Given the description of an element on the screen output the (x, y) to click on. 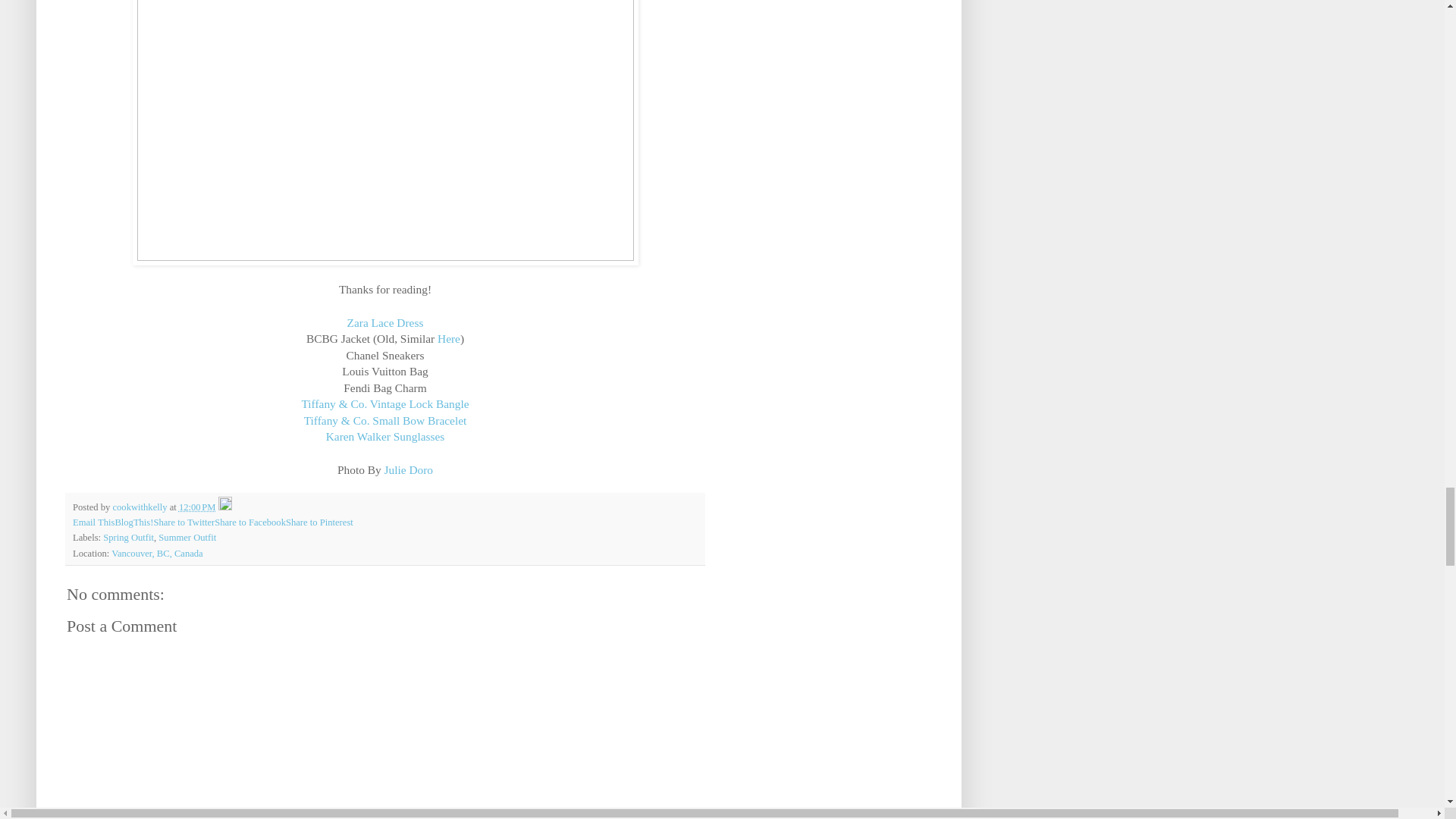
Email This (93, 521)
BlogThis! (133, 521)
Share to Pinterest (319, 521)
author profile (140, 507)
BlogThis! (133, 521)
Edit Post (224, 507)
Summer Outfit (186, 537)
Share to Twitter (183, 521)
cookwithkelly (140, 507)
Zara Lace Dress (385, 322)
Spring Outfit (128, 537)
Share to Facebook (249, 521)
Here (449, 338)
Share to Pinterest (319, 521)
